Given the description of an element on the screen output the (x, y) to click on. 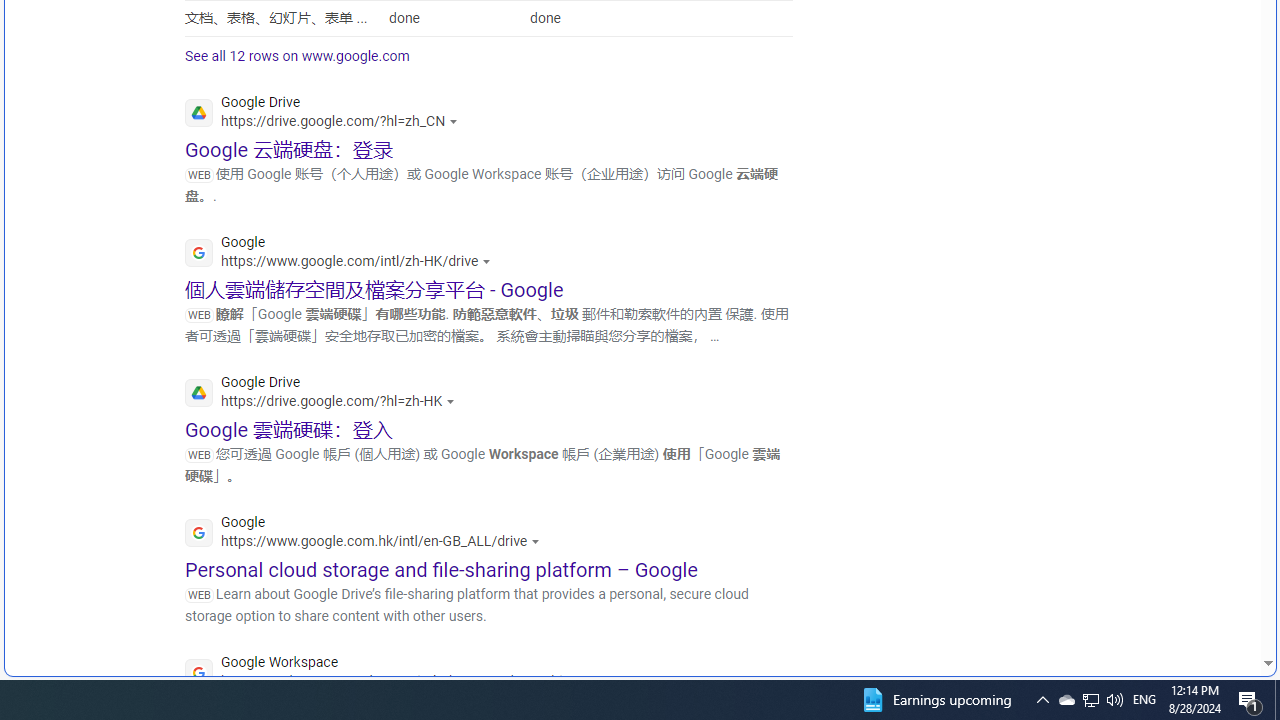
Google Workspace (392, 674)
Google (367, 534)
Actions for this site (588, 681)
AutomationID: mfa_root (1192, 603)
Google Drive (325, 394)
Global web icon (198, 673)
